Given the description of an element on the screen output the (x, y) to click on. 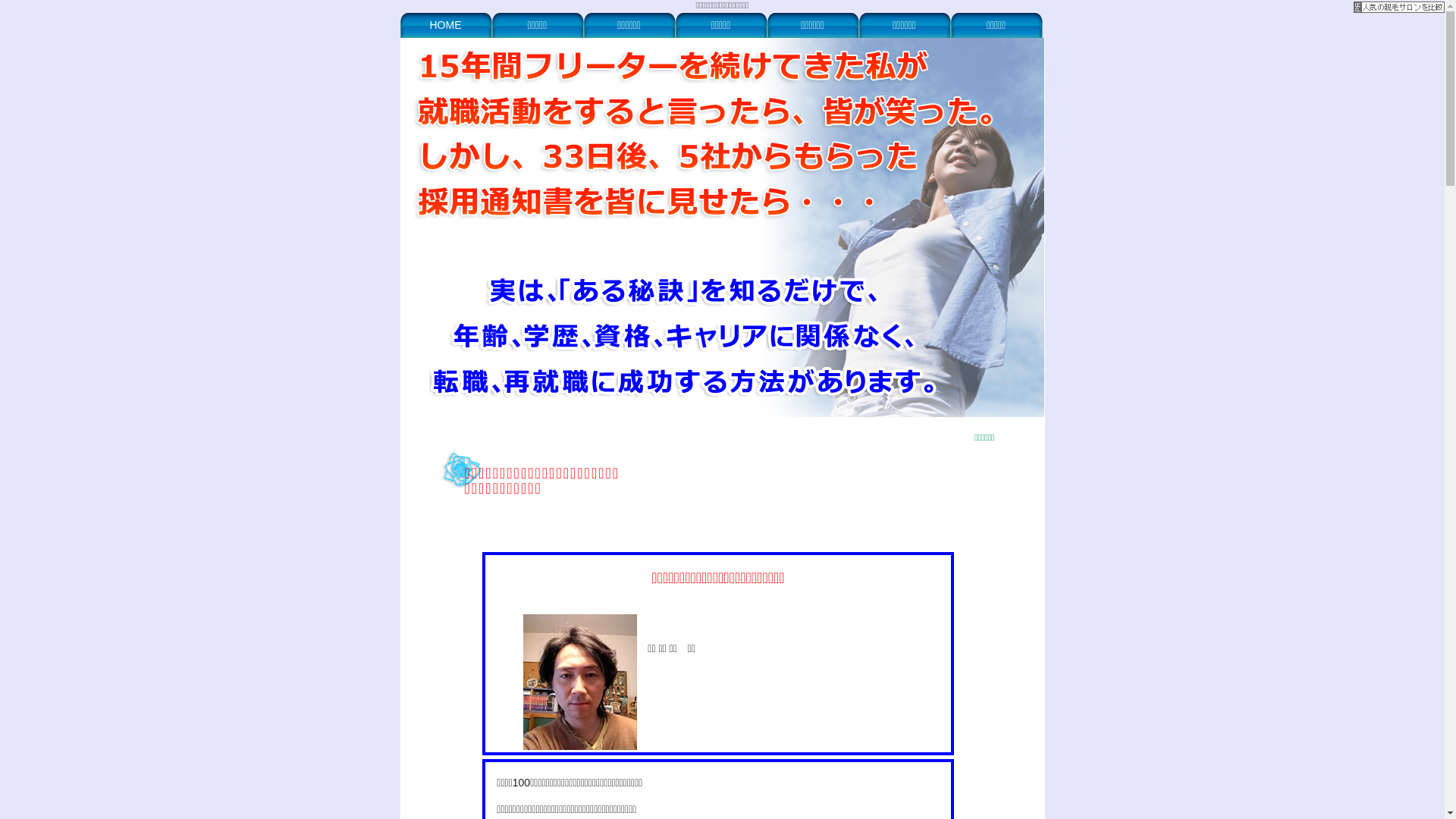
HOME Element type: text (446, 24)
